Given the description of an element on the screen output the (x, y) to click on. 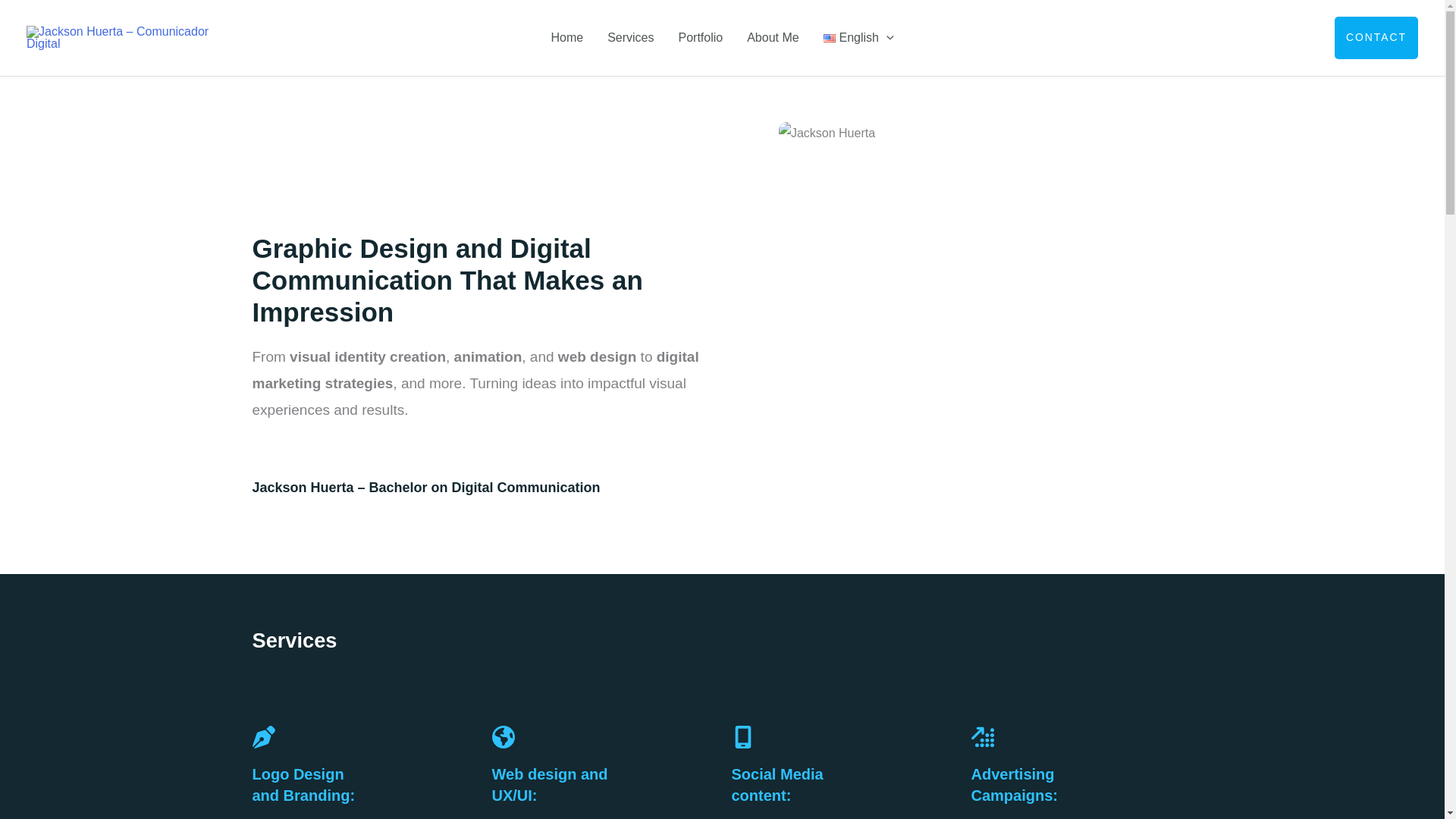
CONTACT (1376, 37)
Services (630, 38)
About Me (772, 38)
Portfolio (700, 38)
English (857, 38)
